Given the description of an element on the screen output the (x, y) to click on. 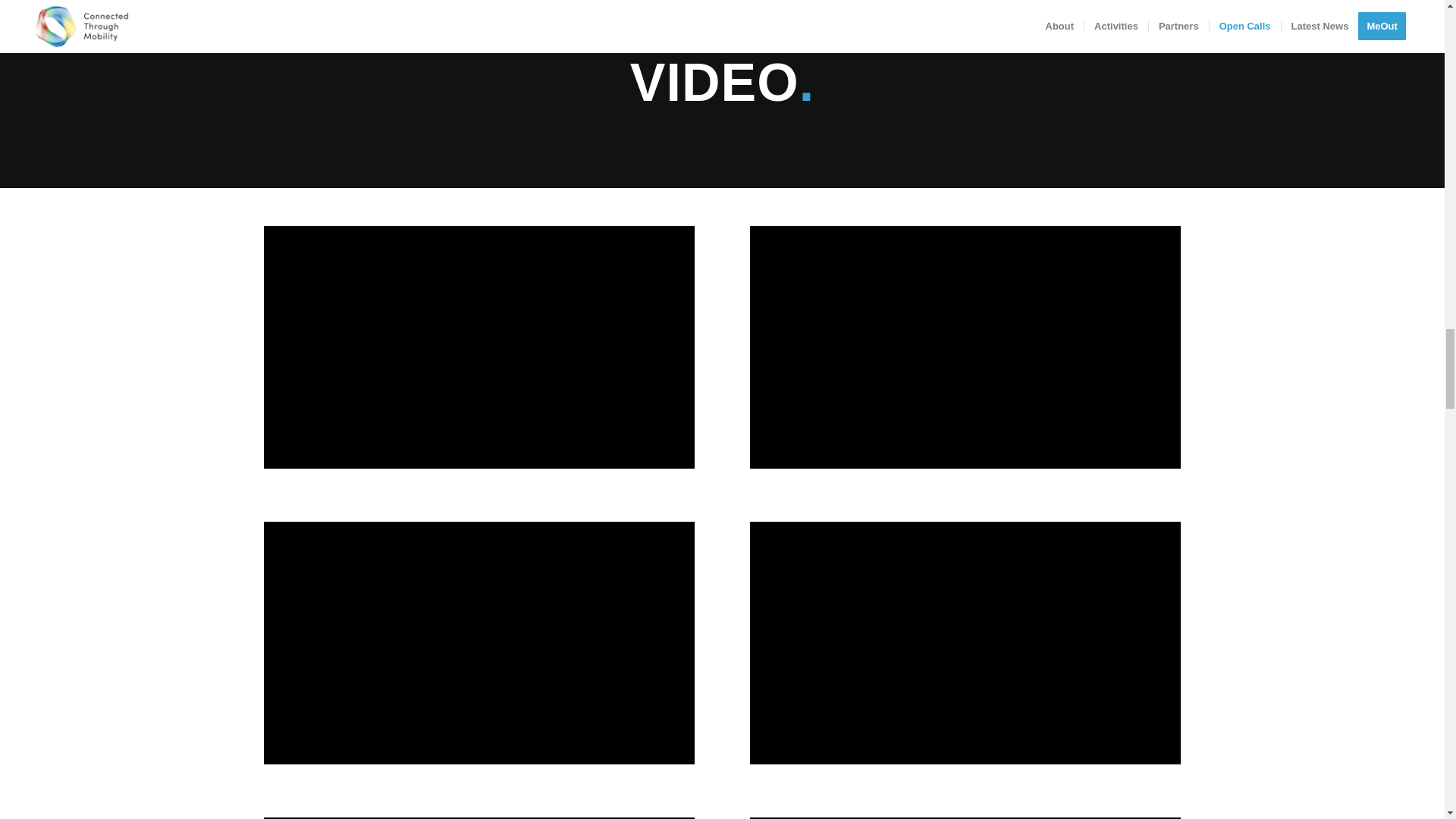
Connected Through Mobility - Stakeholder meeting -  Kosovo (479, 347)
